Given the description of an element on the screen output the (x, y) to click on. 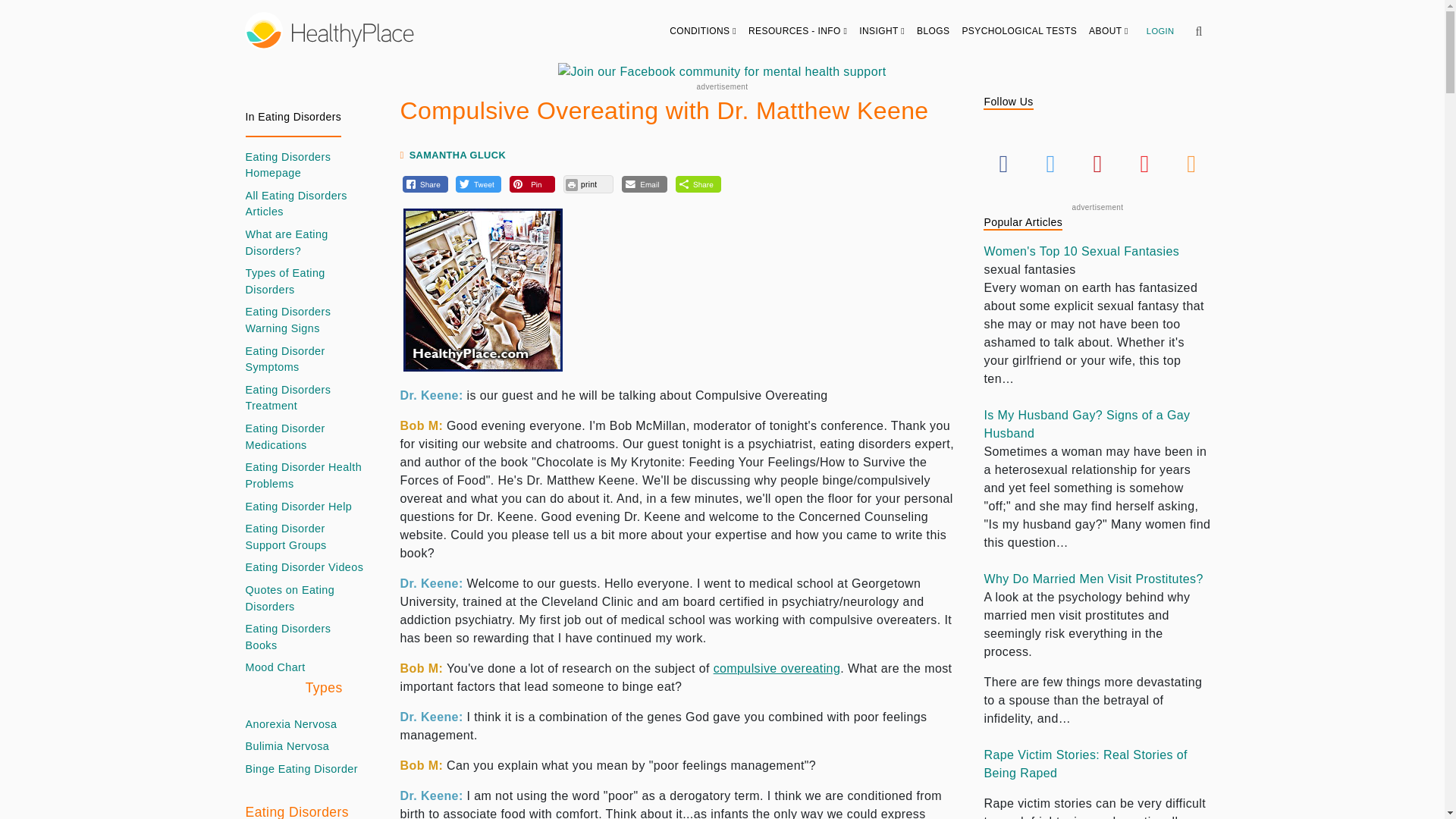
Compulsive Overeating Disorder (777, 667)
INSIGHT (882, 31)
List of All Eating Disorders Articles on HealthyPlace (305, 204)
RESOURCES - INFO (797, 31)
Warning Signs of an Eating Disorder (305, 319)
Watch Eating Disorder Videos (305, 567)
Join our Facebook community for mental health support (721, 72)
CONDITIONS (702, 31)
